Given the description of an element on the screen output the (x, y) to click on. 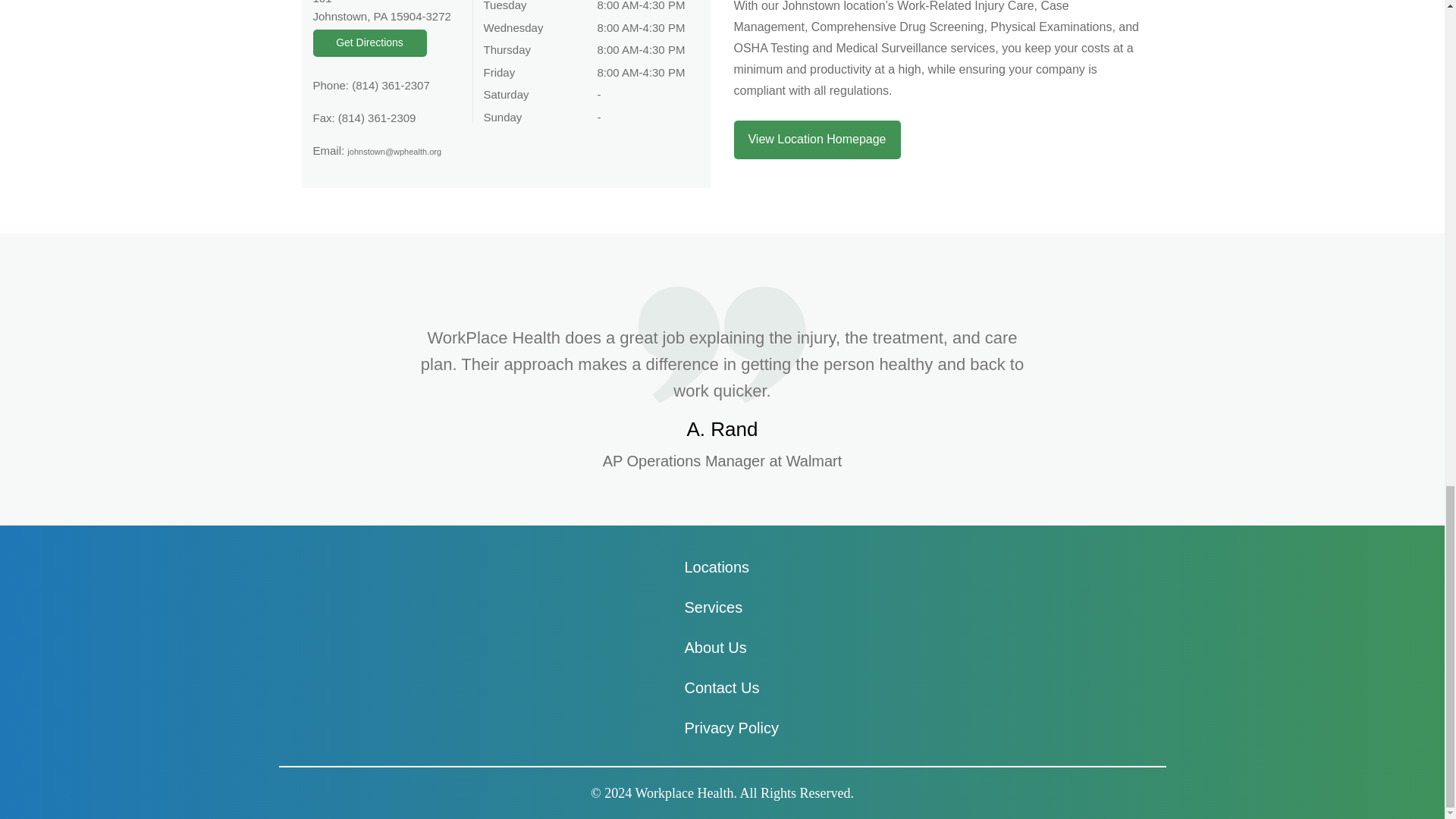
Privacy Policy (730, 727)
About Us (714, 647)
Get Directions (369, 42)
Locations (716, 566)
Services (713, 606)
Contact Us (721, 687)
Workplace Health (683, 792)
View Location Homepage (817, 139)
